Given the description of an element on the screen output the (x, y) to click on. 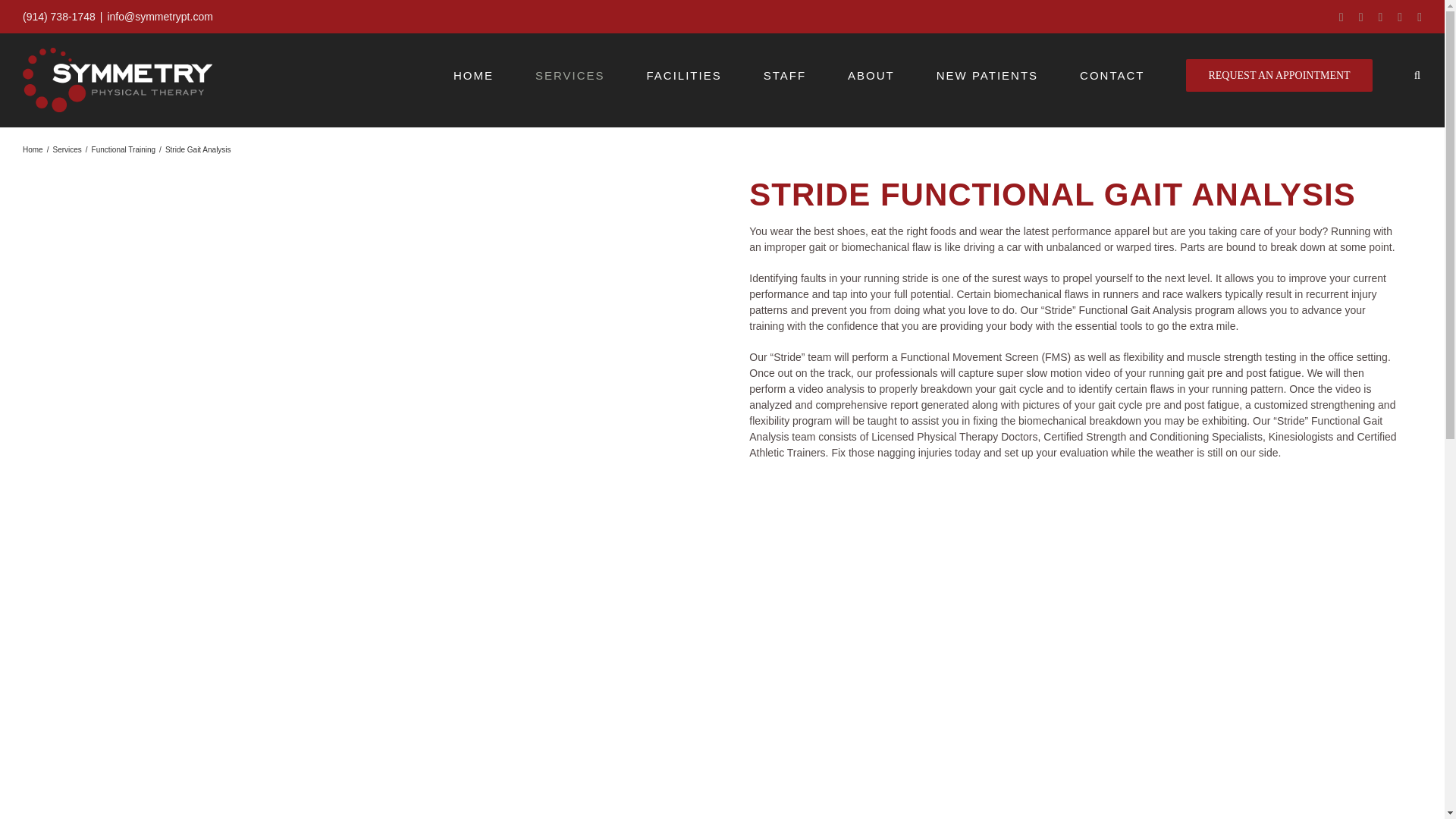
FACILITIES (683, 75)
